Given the description of an element on the screen output the (x, y) to click on. 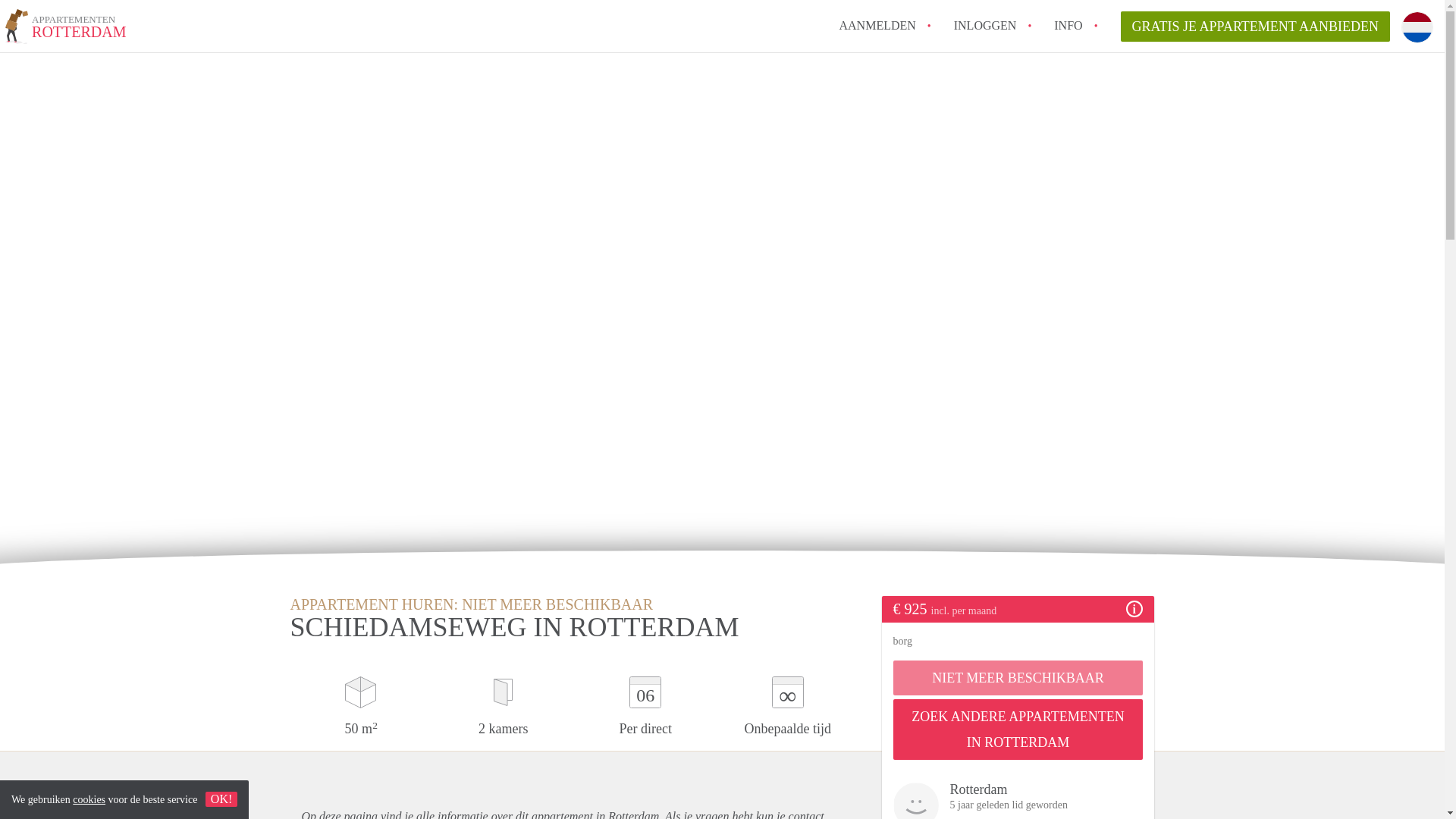
INLOGGEN (984, 25)
NIET MEER BESCHIKBAAR (1017, 677)
Aanmelden voor een nieuw account (876, 25)
Gratis je Appartement aanbieden (1255, 26)
AANMELDEN (876, 25)
GRATIS JE APPARTEMENT AANBIEDEN (65, 28)
ZOEK ANDERE APPARTEMENTEN IN ROTTERDAM (1255, 26)
Inloggen met je gegevens (1017, 729)
INFO (984, 25)
Antwoorden op veelgestelde vragen (1067, 25)
Terug naar de homepage (1067, 25)
